Given the description of an element on the screen output the (x, y) to click on. 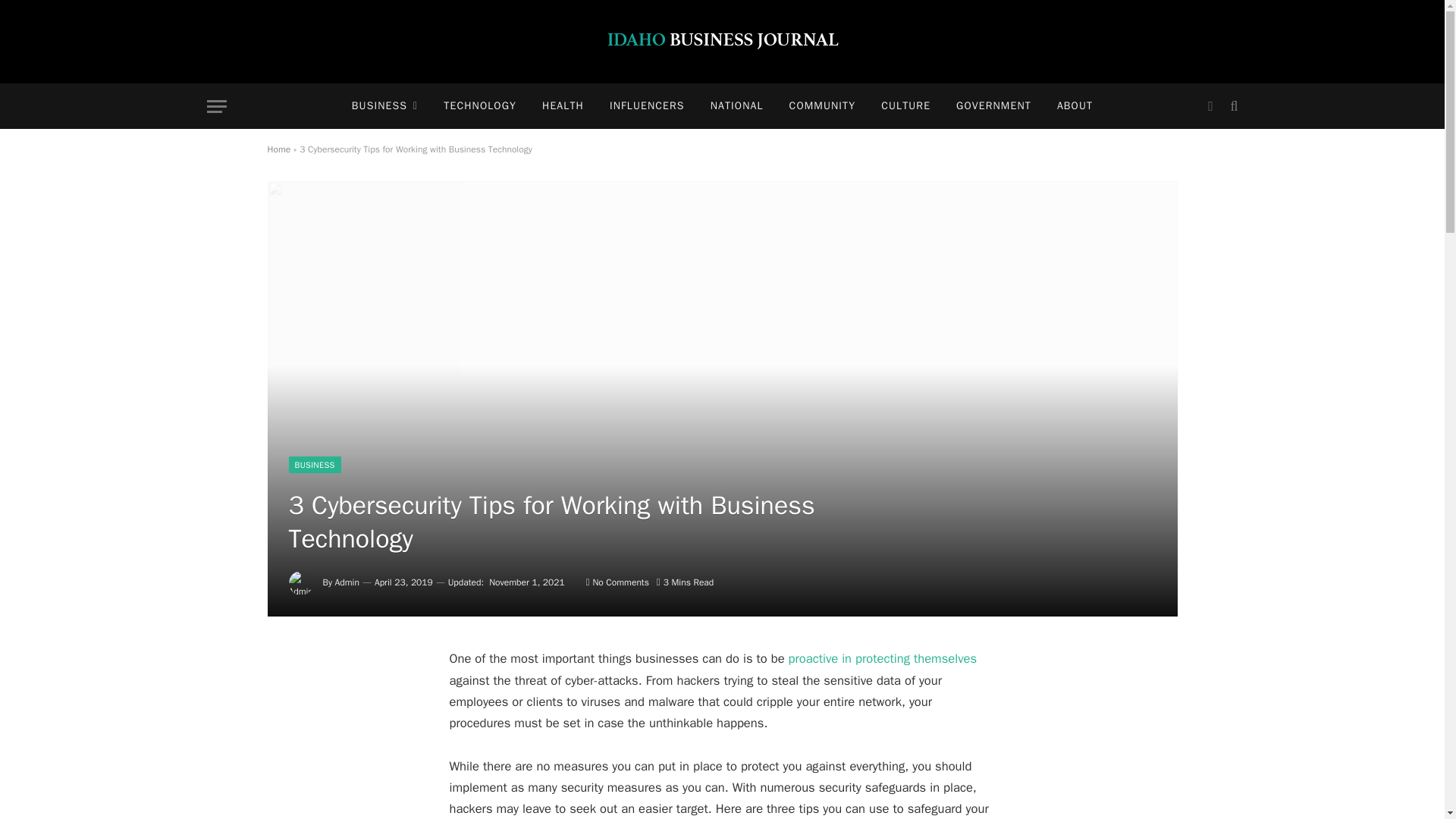
NATIONAL (736, 105)
Switch to Dark Design - easier on eyes. (1209, 106)
BUSINESS (384, 105)
Home (277, 149)
No Comments (617, 582)
BUSINESS (314, 464)
ABOUT (1074, 105)
COMMUNITY (822, 105)
TECHNOLOGY (479, 105)
Posts by Admin (346, 582)
GOVERNMENT (993, 105)
INFLUENCERS (646, 105)
HEALTH (562, 105)
Idaho Business Journal (722, 41)
